Given the description of an element on the screen output the (x, y) to click on. 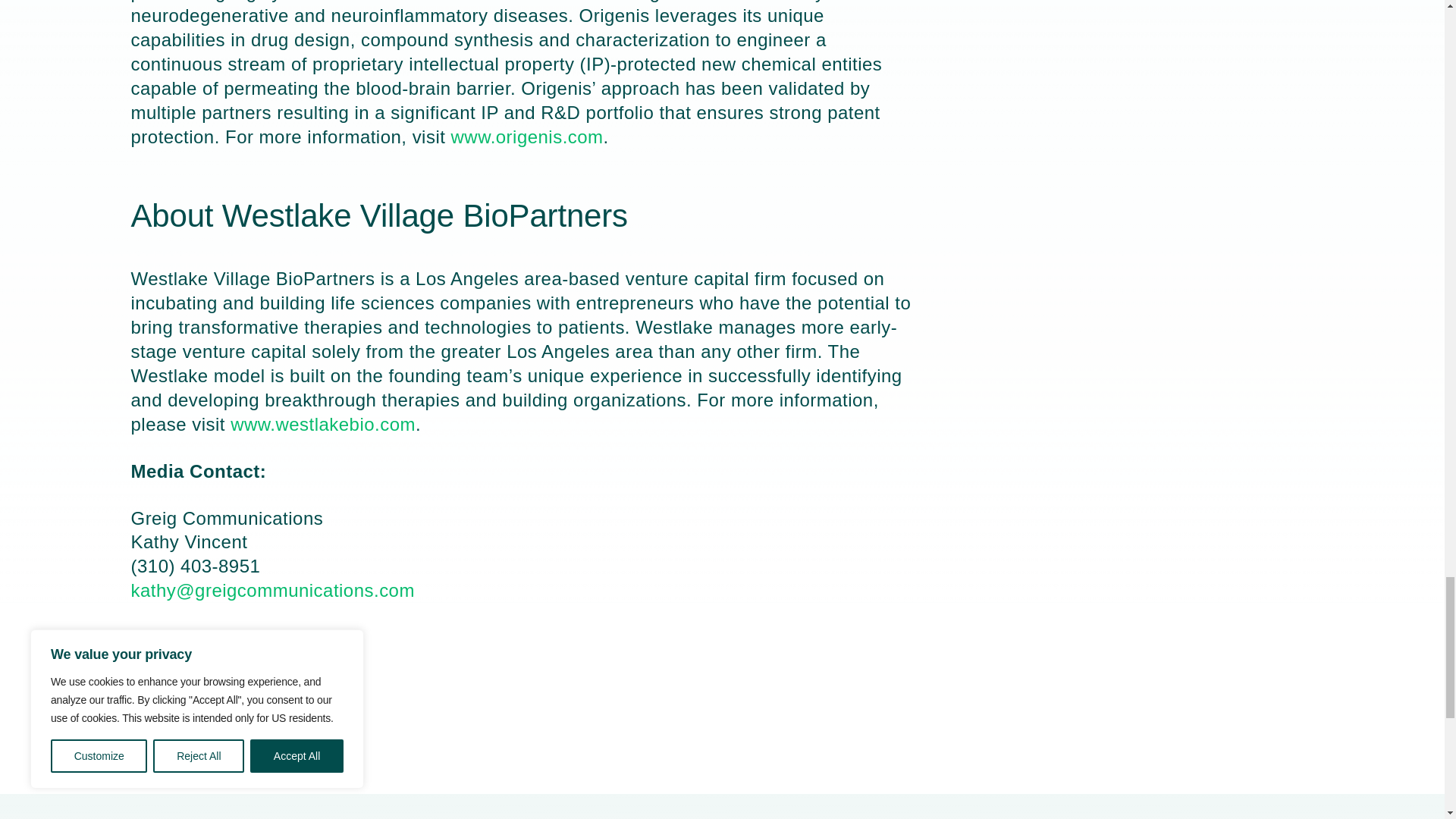
www.origenis.com (527, 136)
www.westlakebio.com (322, 424)
